Given the description of an element on the screen output the (x, y) to click on. 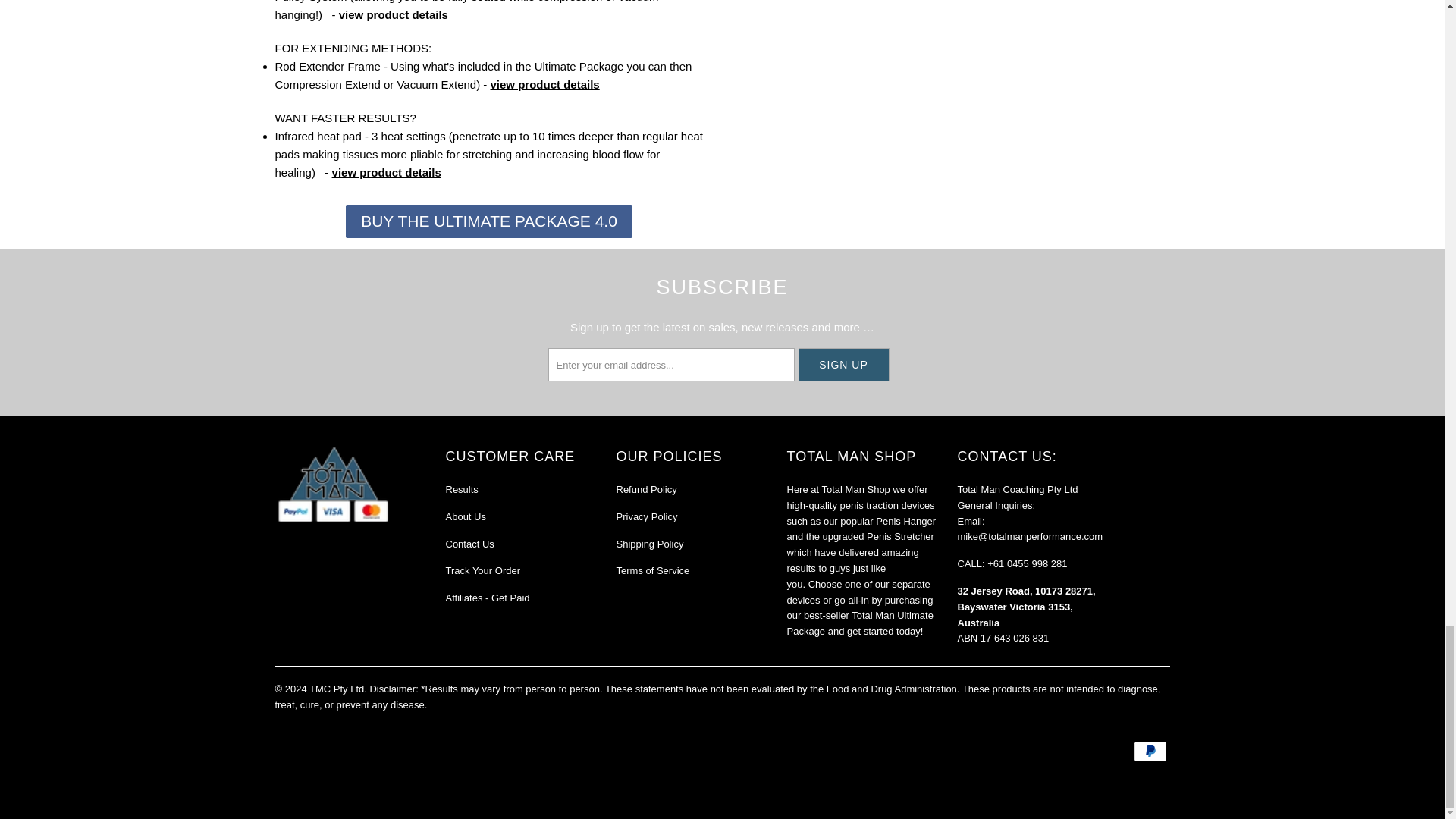
Privacy Policy (646, 516)
Terms of Service (651, 570)
Shipping Policy (648, 543)
Sign Up (842, 364)
Refund Policy (646, 489)
PayPal (1150, 751)
